Given the description of an element on the screen output the (x, y) to click on. 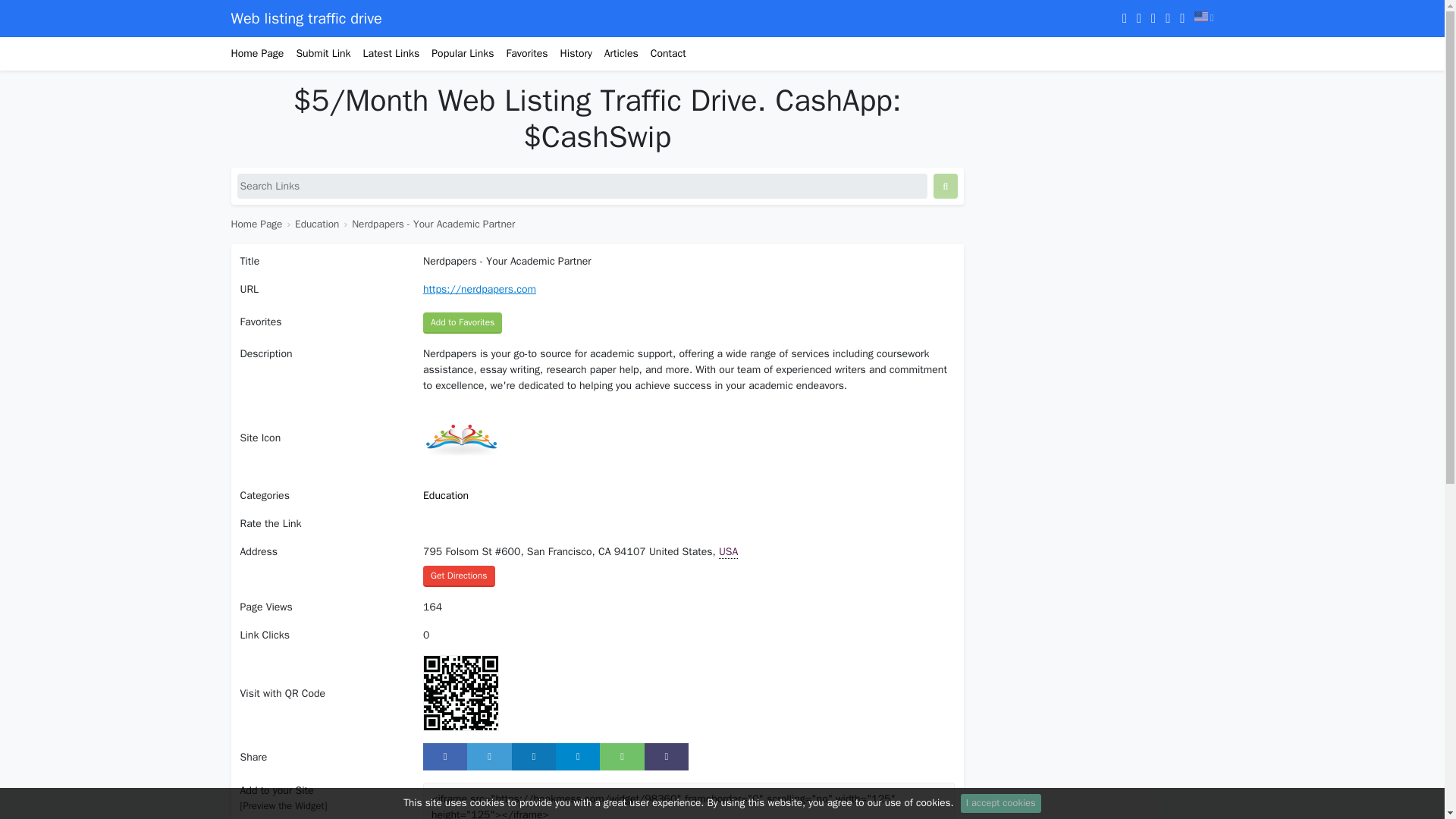
Articles (615, 53)
Web listing traffic drive (305, 18)
Latest Links (385, 53)
Get Directions (459, 576)
Add to Favorites (462, 322)
Advertisement (1096, 176)
Popular Links (456, 53)
USA (728, 551)
History (570, 53)
Home Page (256, 223)
